Given the description of an element on the screen output the (x, y) to click on. 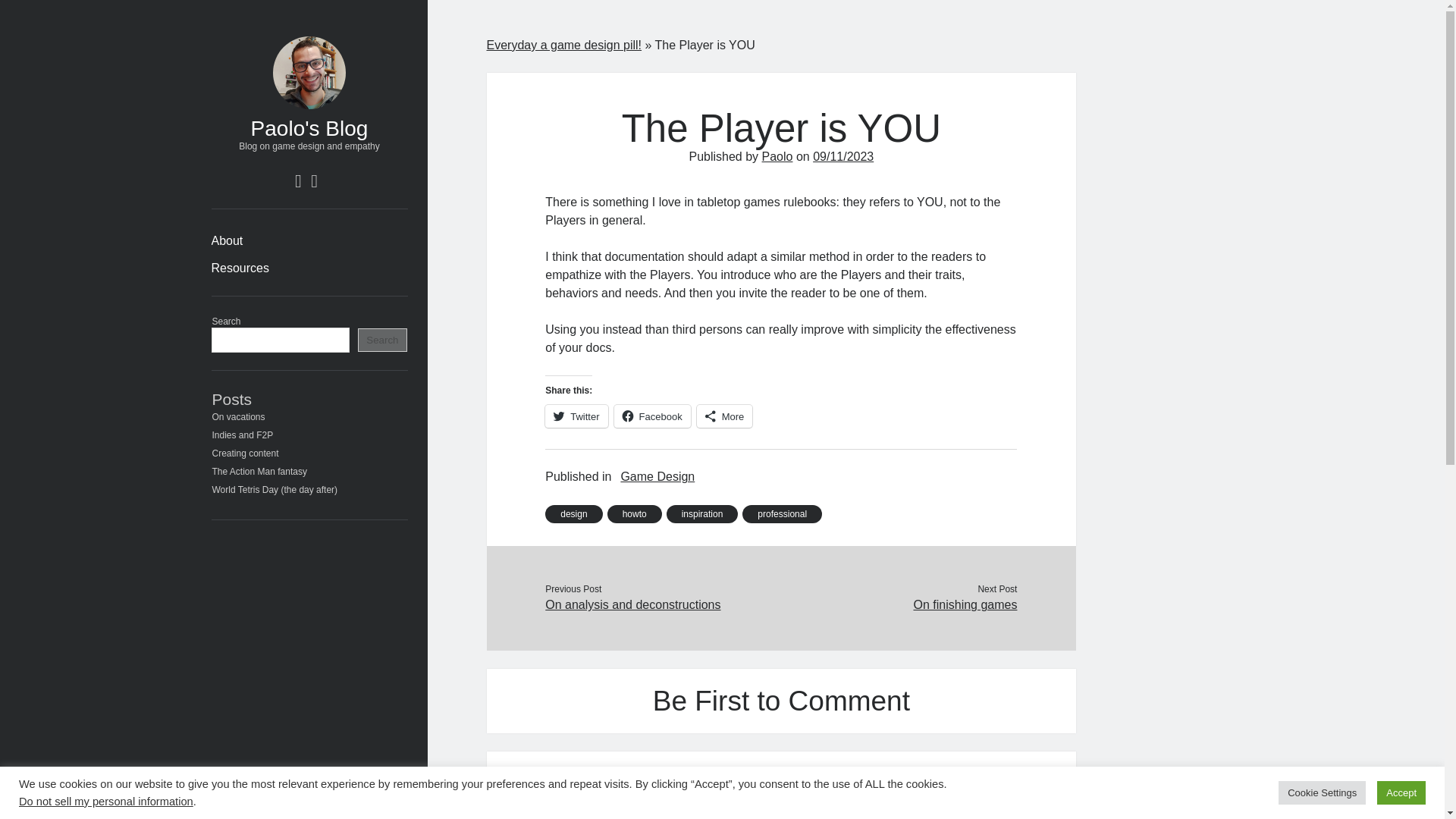
View all posts tagged design (573, 514)
linkedin (314, 180)
Twitter (575, 415)
About (227, 240)
design (573, 514)
Click to share on Twitter (575, 415)
Paolo (777, 155)
On analysis and deconstructions (662, 605)
Creating content (245, 452)
Resources (239, 268)
Everyday a game design pill! (564, 44)
View all posts tagged professional (782, 514)
twitter (298, 180)
Click to share on Facebook (652, 415)
View all posts tagged howto (634, 514)
